Given the description of an element on the screen output the (x, y) to click on. 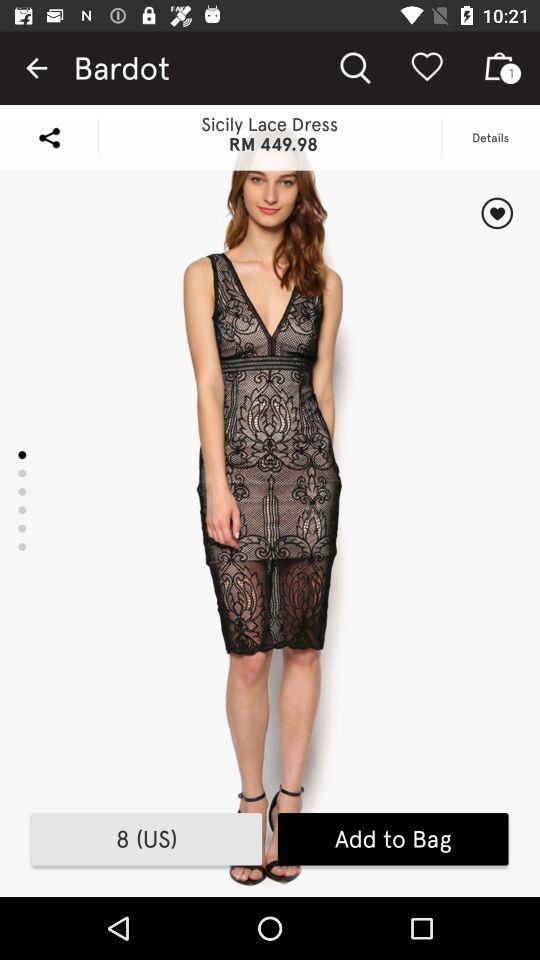
open the add to bag icon (392, 839)
